Given the description of an element on the screen output the (x, y) to click on. 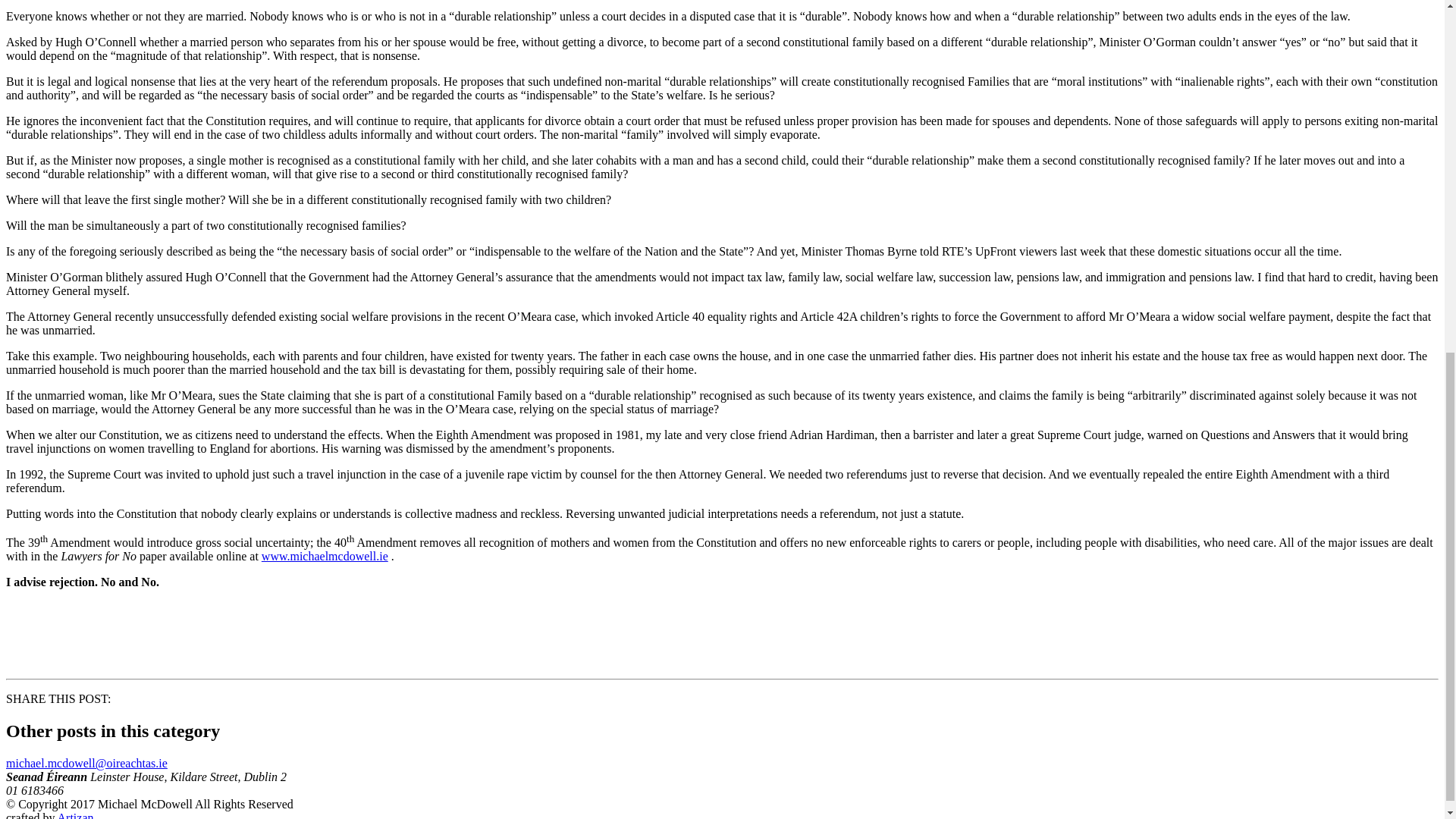
www.michaelmcdowell.ie (325, 555)
